Given the description of an element on the screen output the (x, y) to click on. 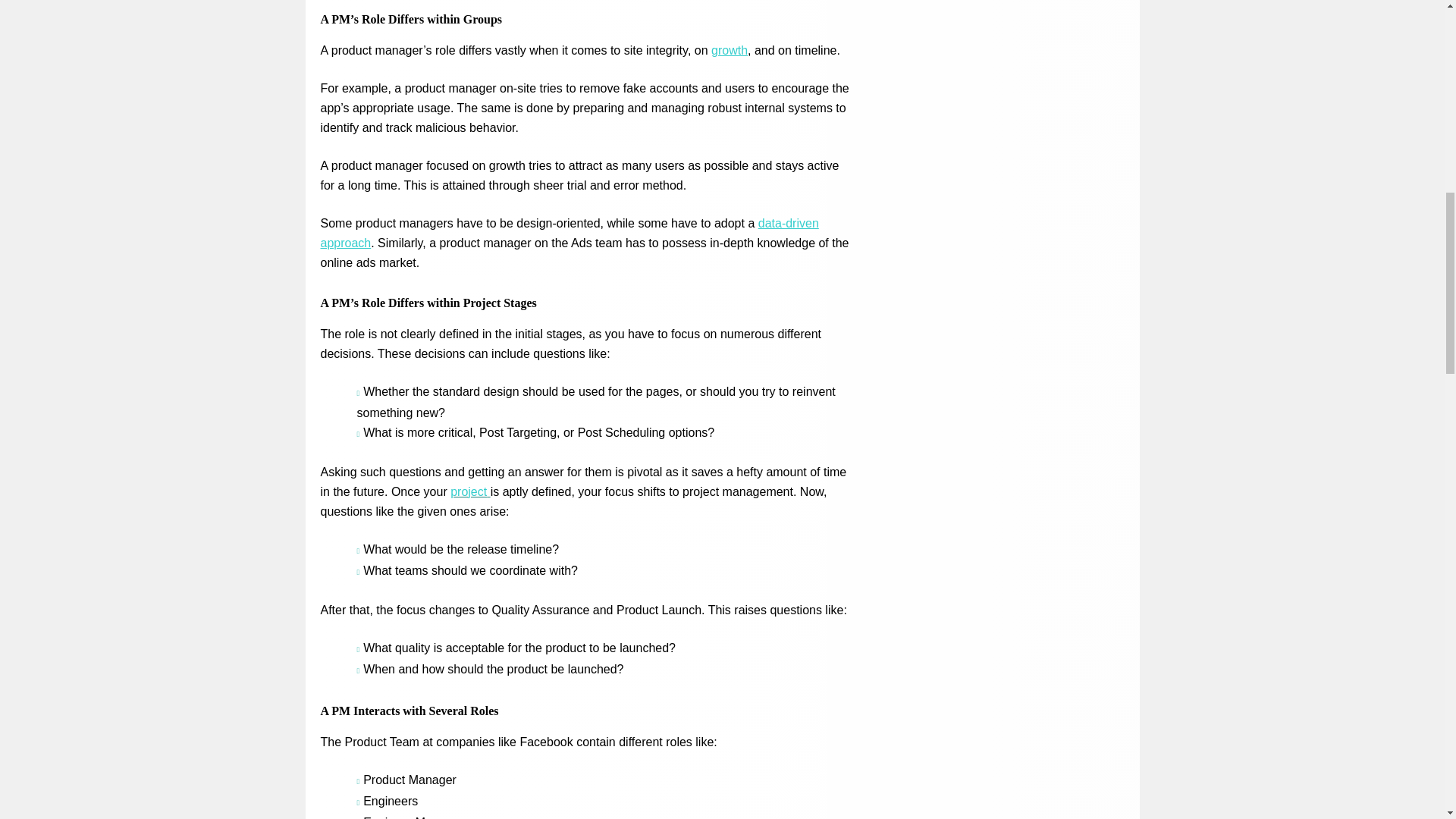
project (469, 491)
data-driven approach (569, 233)
growth (729, 50)
